Given the description of an element on the screen output the (x, y) to click on. 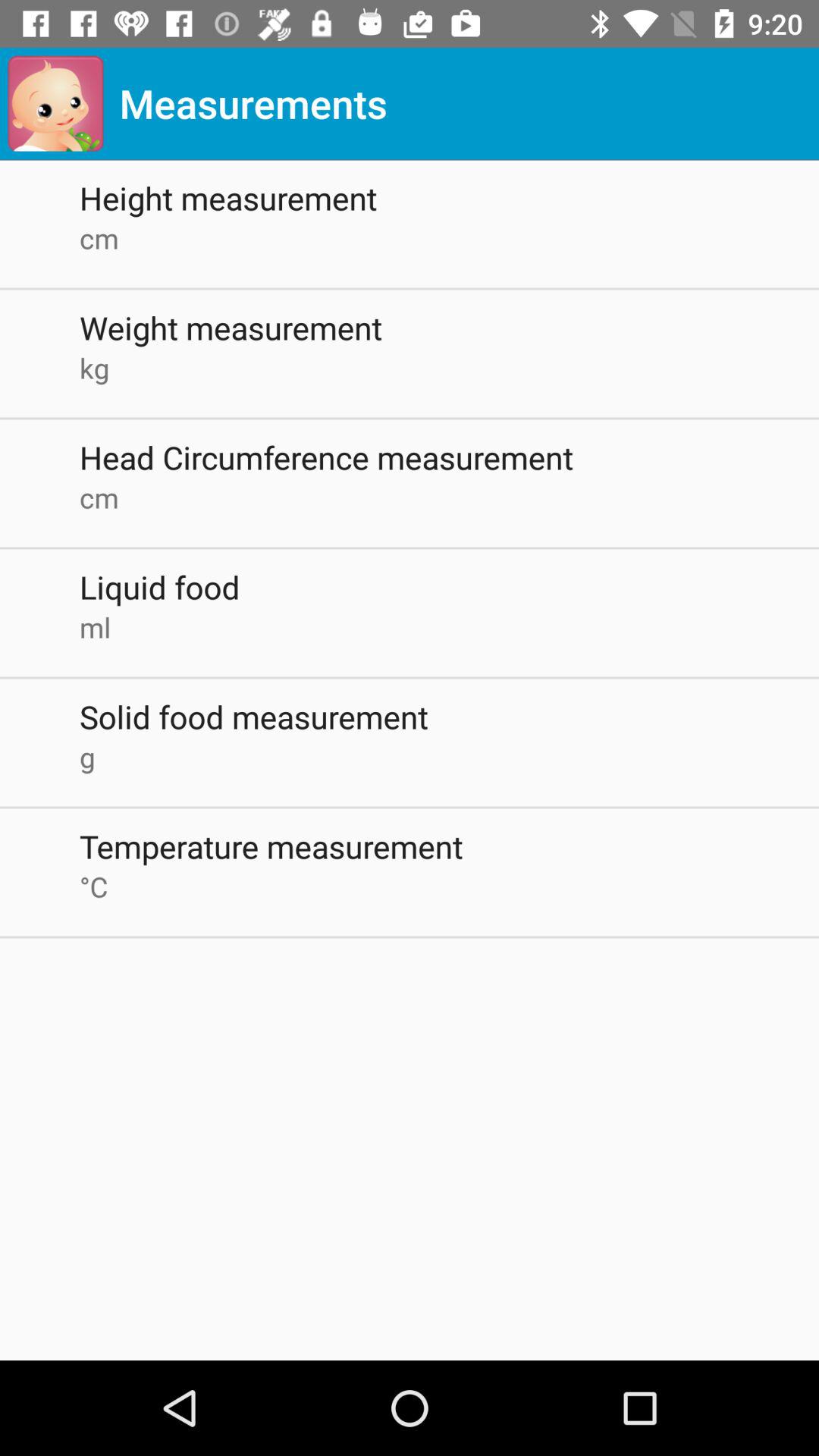
press the app next to measurements app (55, 103)
